Given the description of an element on the screen output the (x, y) to click on. 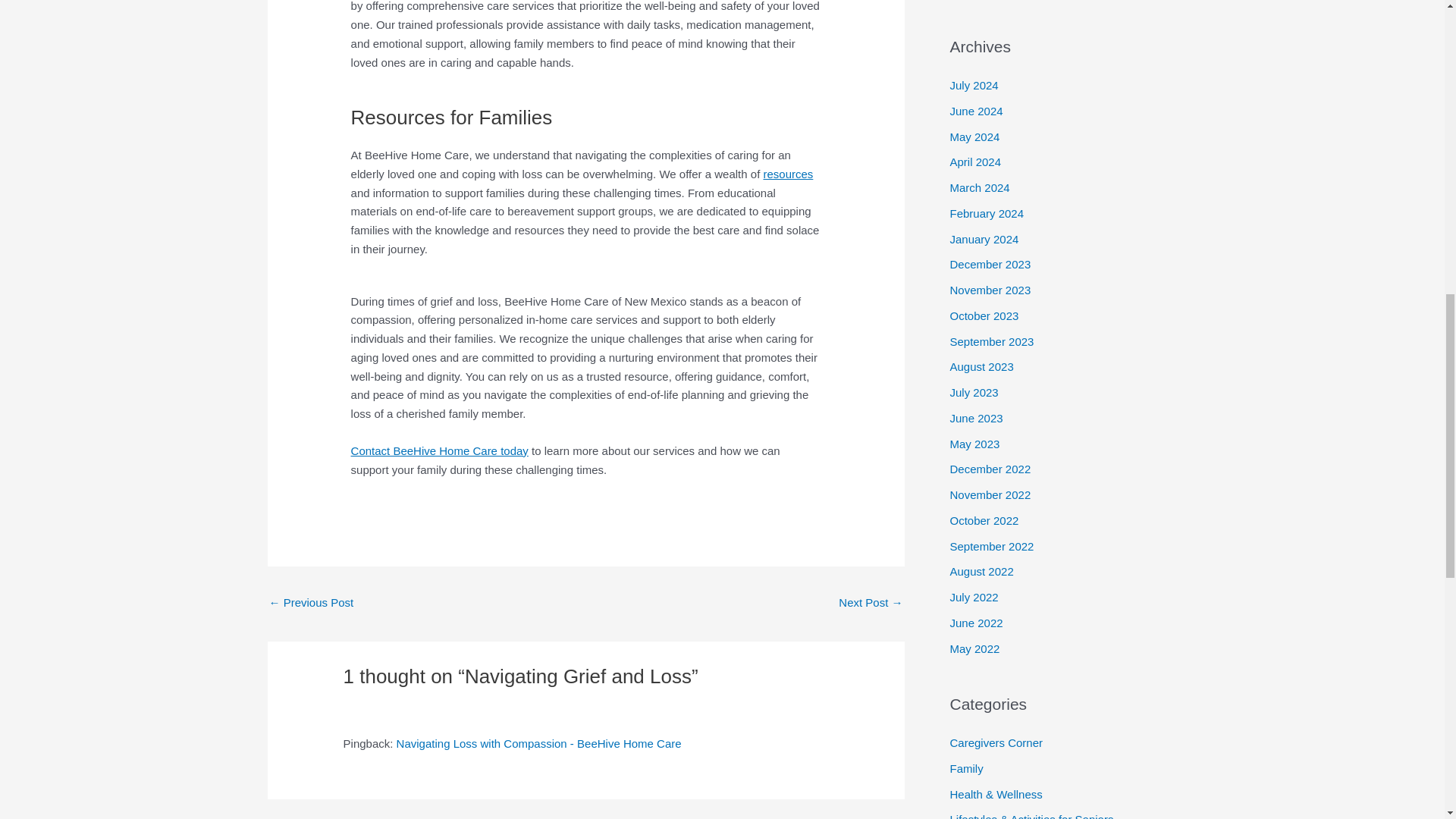
resources (787, 173)
The Significance of Memorial Day (310, 603)
Navigating Loss with Compassion - BeeHive Home Care (538, 743)
Contact BeeHive Home Care today (439, 450)
Honoring the Torchbearers (870, 603)
